Given the description of an element on the screen output the (x, y) to click on. 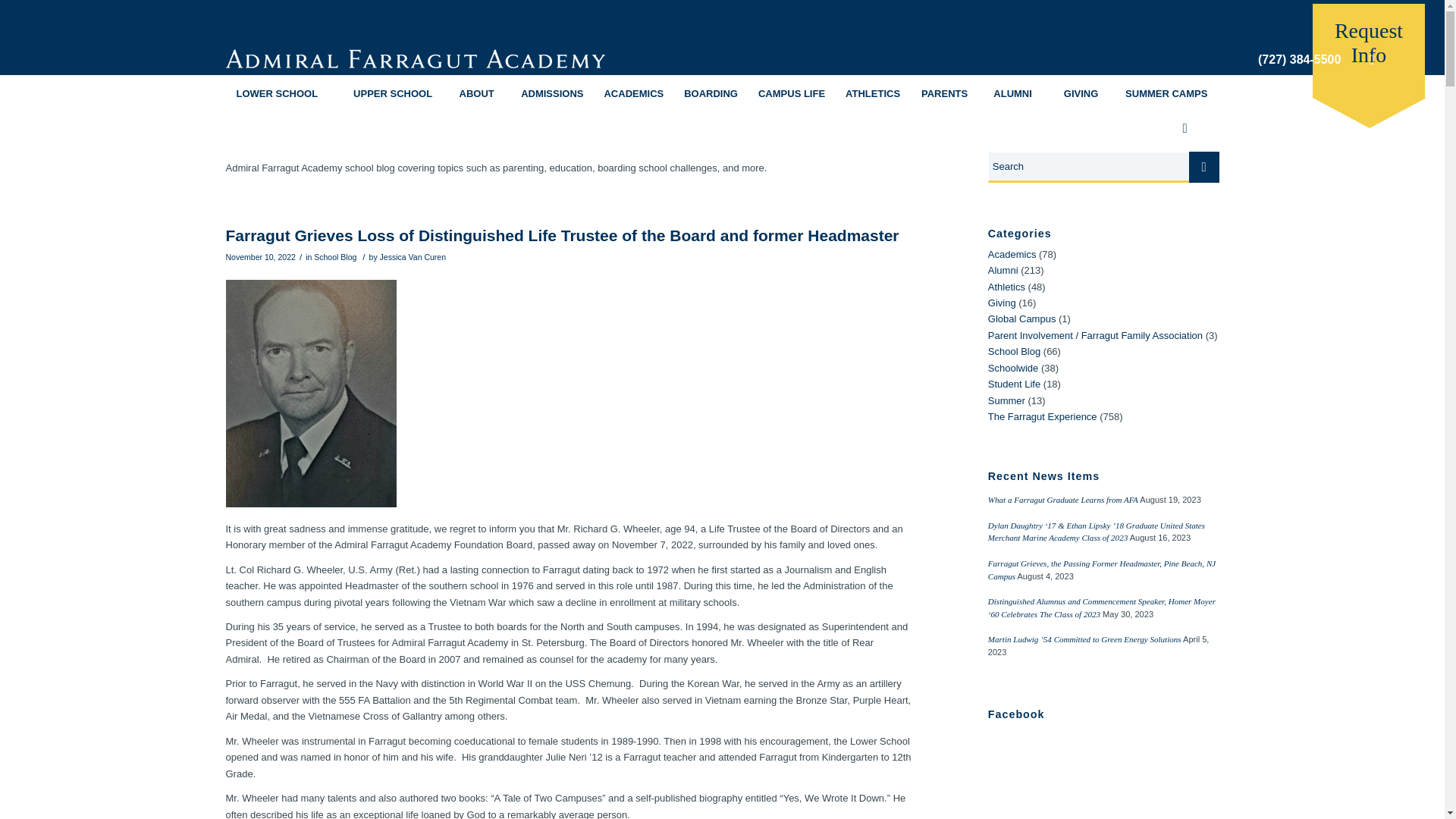
Posts by Jessica Van Curen (412, 256)
ADMISSIONS (551, 92)
UPPER SCHOOL (392, 92)
LOWER SCHOOL (277, 92)
Request Info (1369, 50)
ABOUT (476, 92)
